Given the description of an element on the screen output the (x, y) to click on. 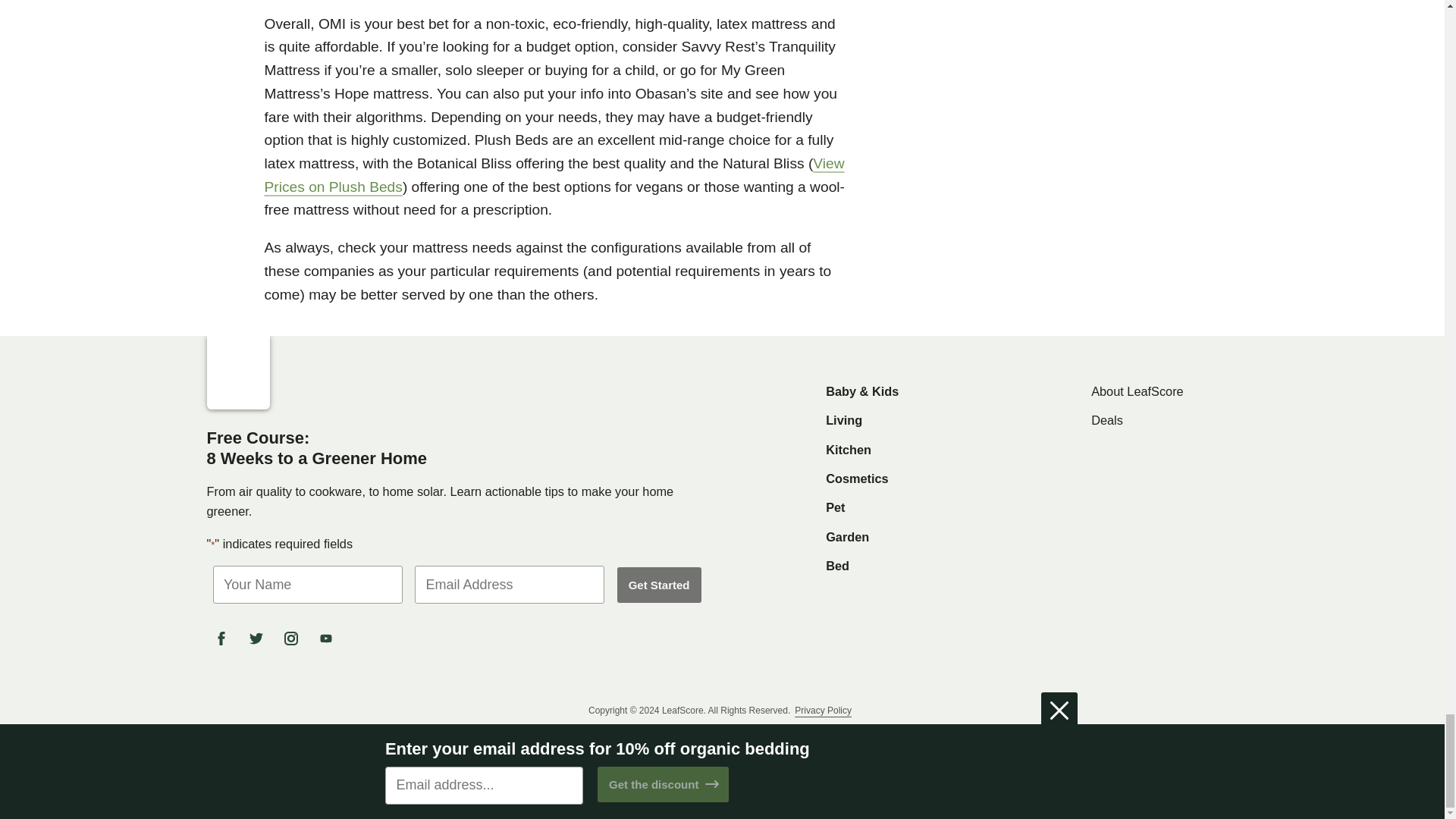
Facebook (223, 638)
Twitter (258, 638)
Get Started (659, 584)
Instagram (293, 638)
YouTube (328, 638)
